Given the description of an element on the screen output the (x, y) to click on. 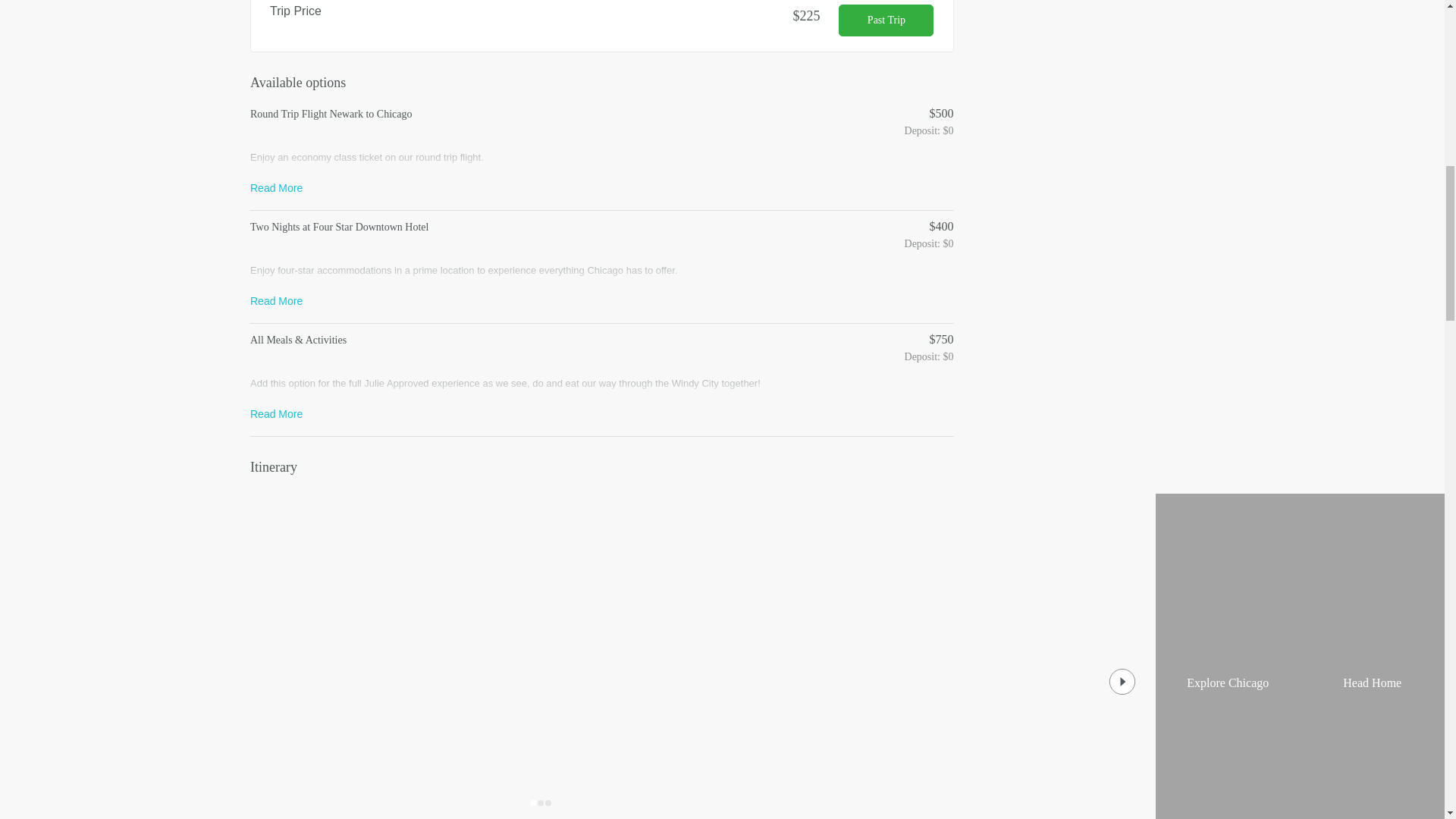
Past Trip (885, 20)
Read More (276, 413)
Read More (276, 187)
Read More (276, 300)
